Given the description of an element on the screen output the (x, y) to click on. 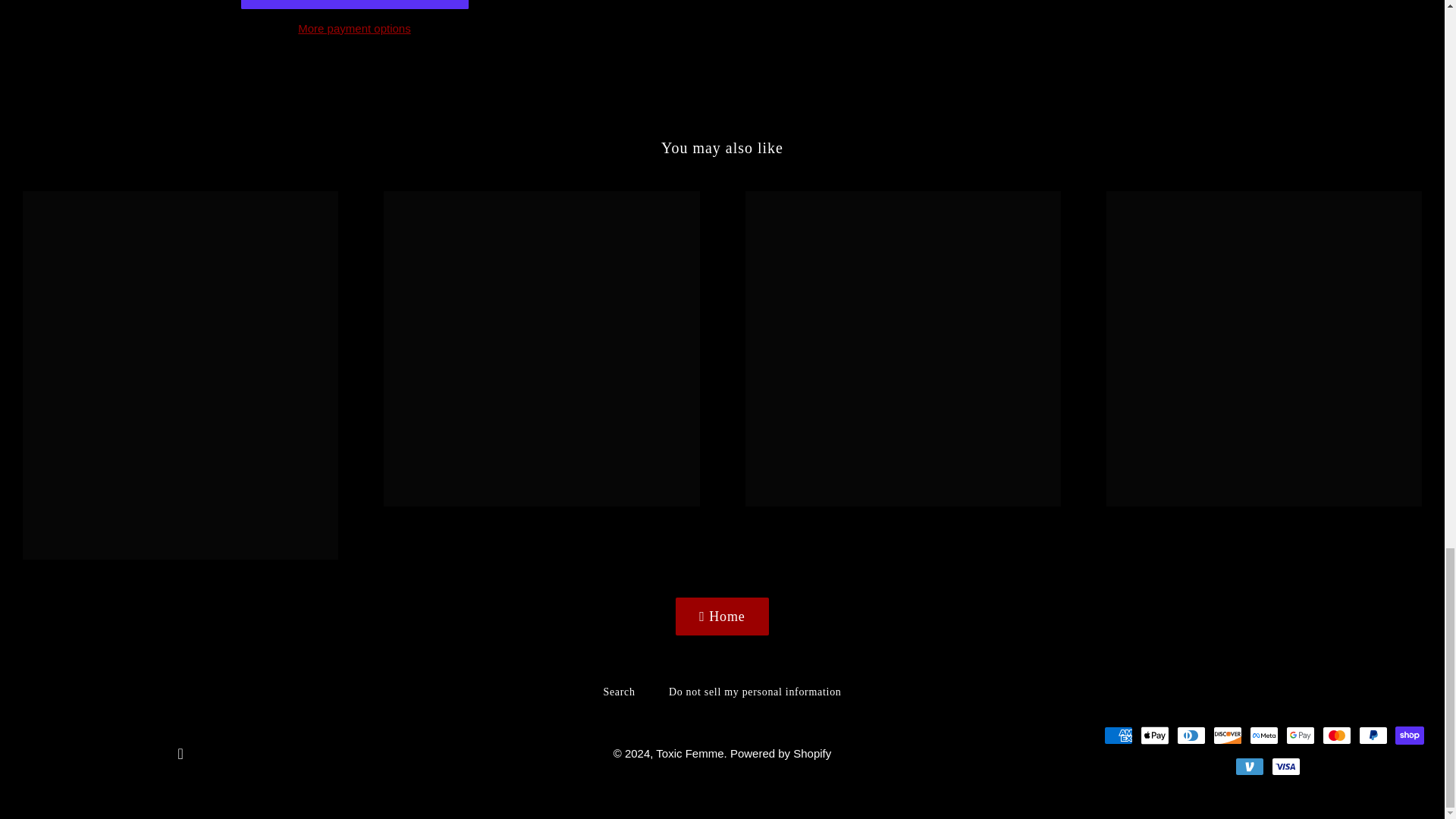
Apple Pay (1154, 735)
Mastercard (1336, 735)
Venmo (1248, 766)
Meta Pay (1263, 735)
American Express (1117, 735)
Toxic Femme (689, 753)
Home (721, 616)
PayPal (1372, 735)
More payment options (354, 28)
Diners Club (1190, 735)
